Given the description of an element on the screen output the (x, y) to click on. 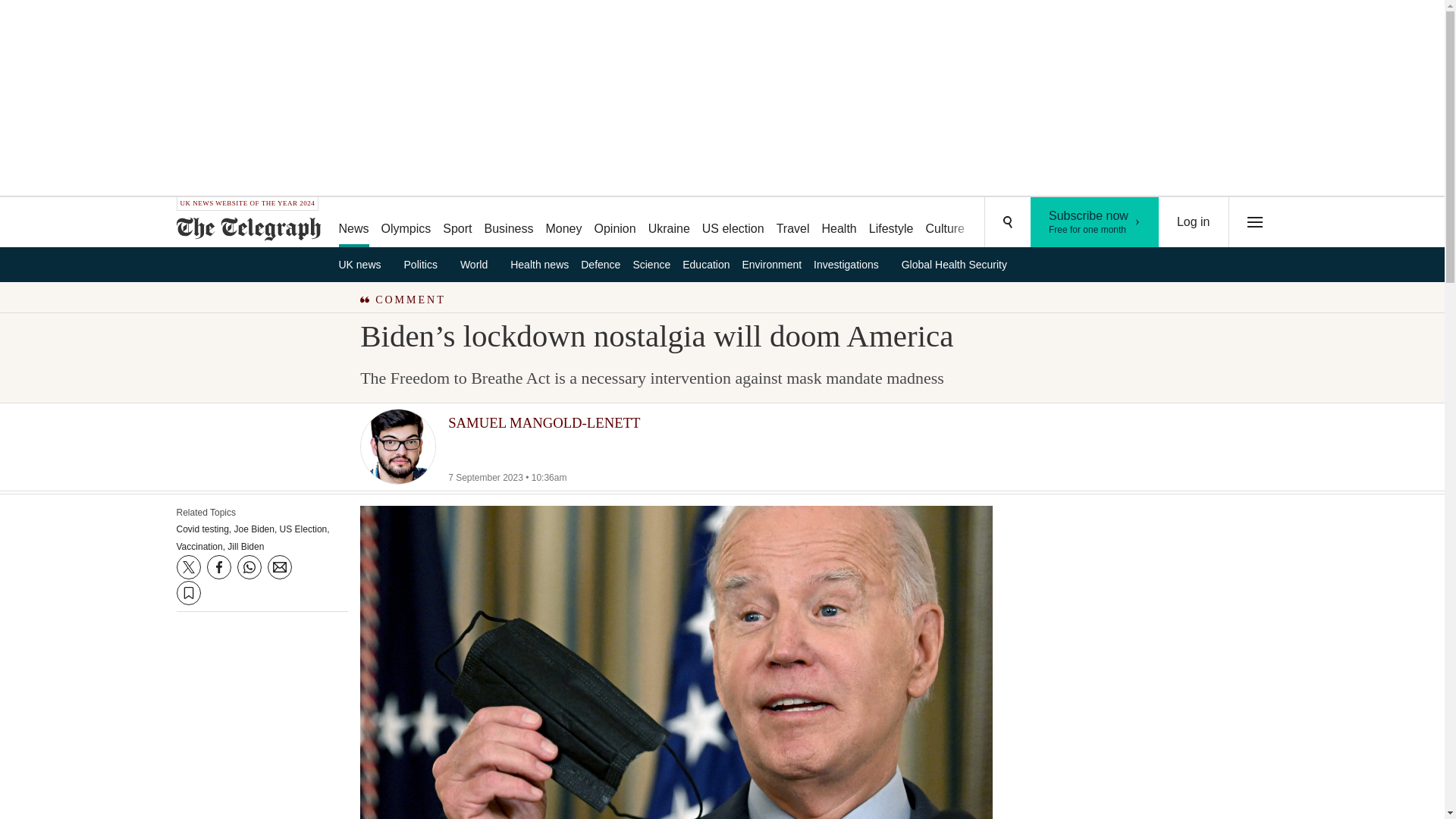
Travel (792, 223)
Politics (425, 264)
Puzzles (998, 223)
Health (838, 223)
Business (1094, 222)
Podcasts (509, 223)
Lifestyle (1056, 223)
Log in (891, 223)
Money (1193, 222)
Ukraine (563, 223)
US election (668, 223)
UK news (732, 223)
Opinion (364, 264)
Olympics (615, 223)
